Given the description of an element on the screen output the (x, y) to click on. 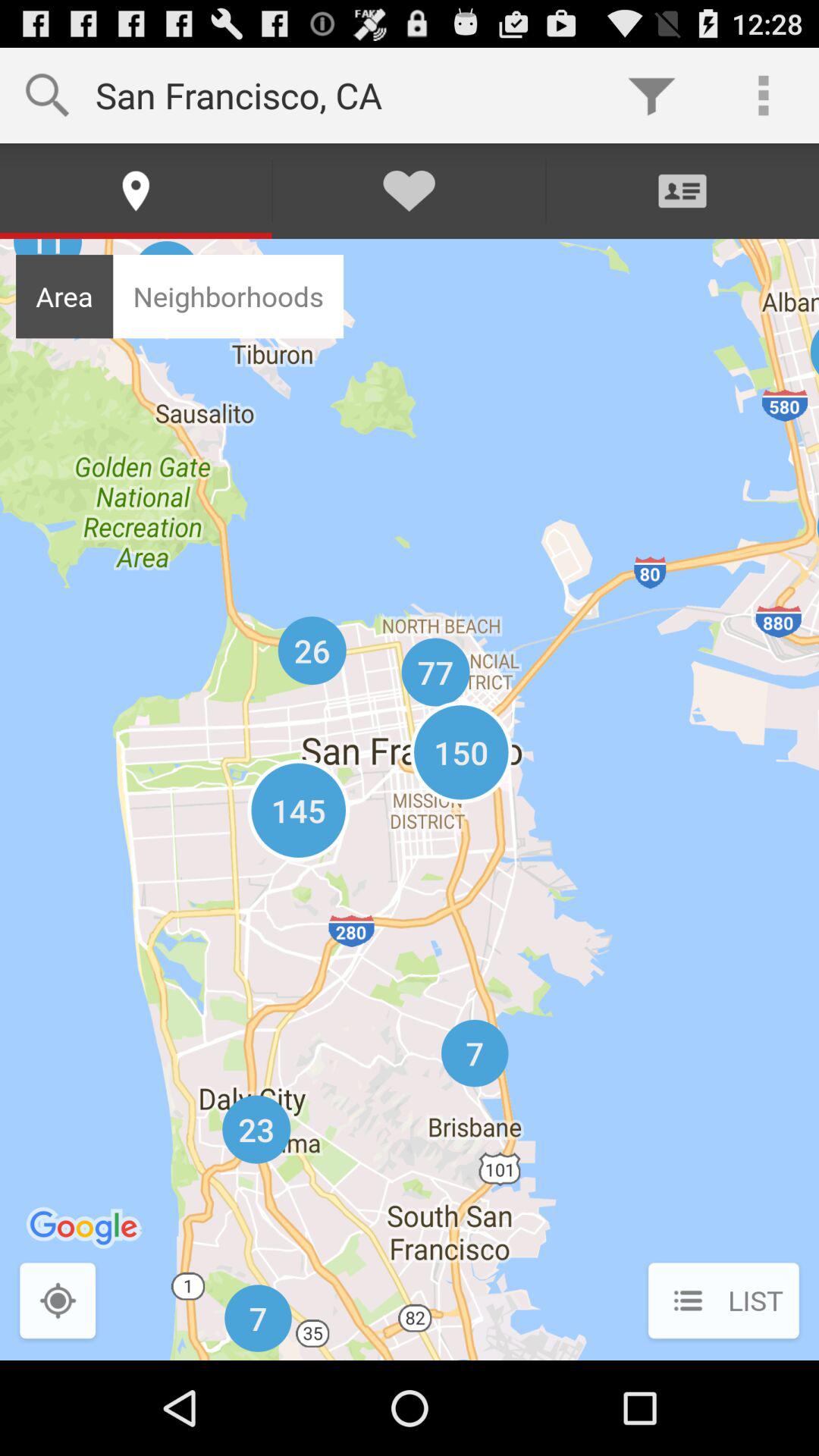
launch the button at the bottom right corner (723, 1302)
